Given the description of an element on the screen output the (x, y) to click on. 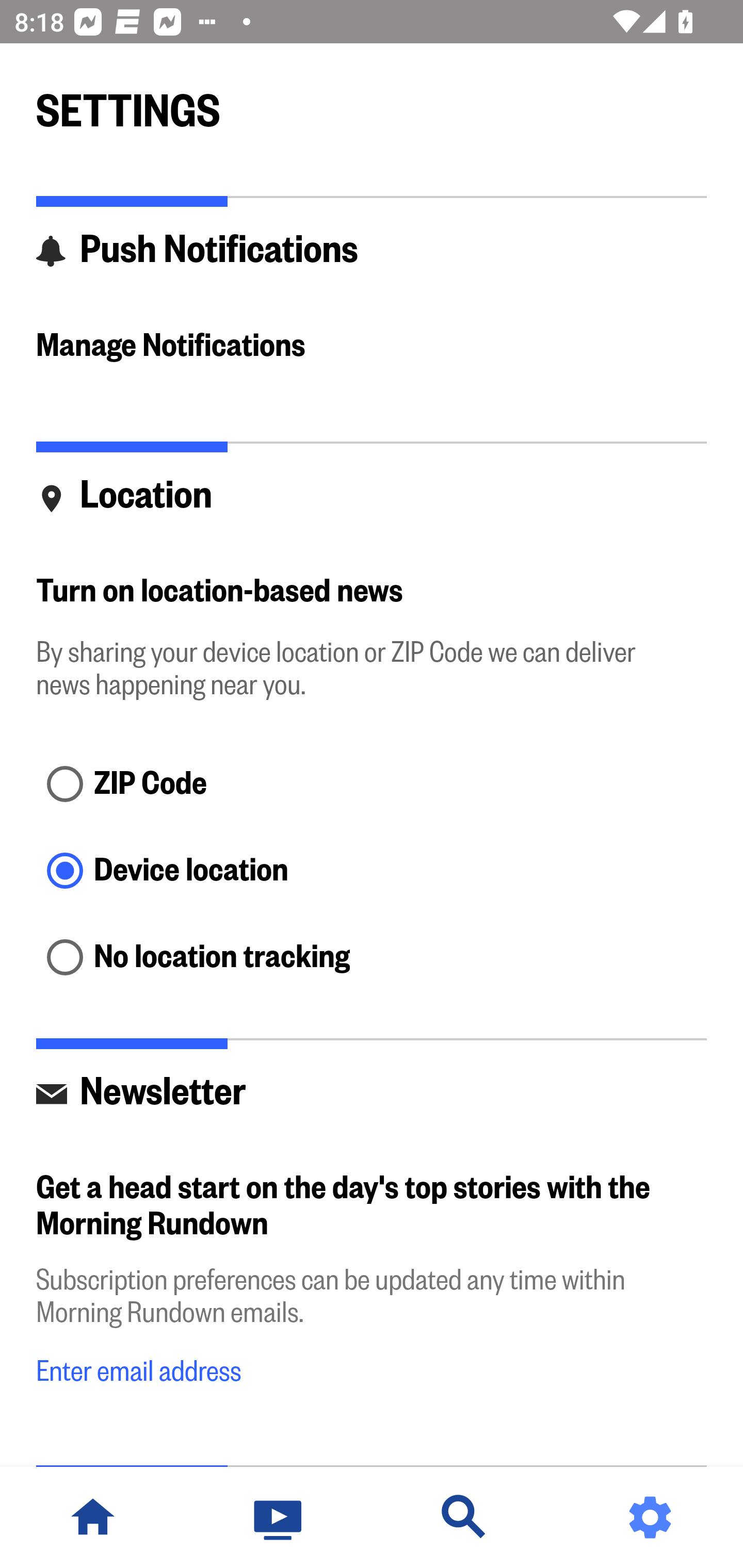
SETTINGS (371, 101)
Manage Notifications (371, 346)
ZIP Code (371, 785)
Device location (371, 872)
No location tracking (371, 958)
NBC News Home (92, 1517)
Watch (278, 1517)
Discover (464, 1517)
